Given the description of an element on the screen output the (x, y) to click on. 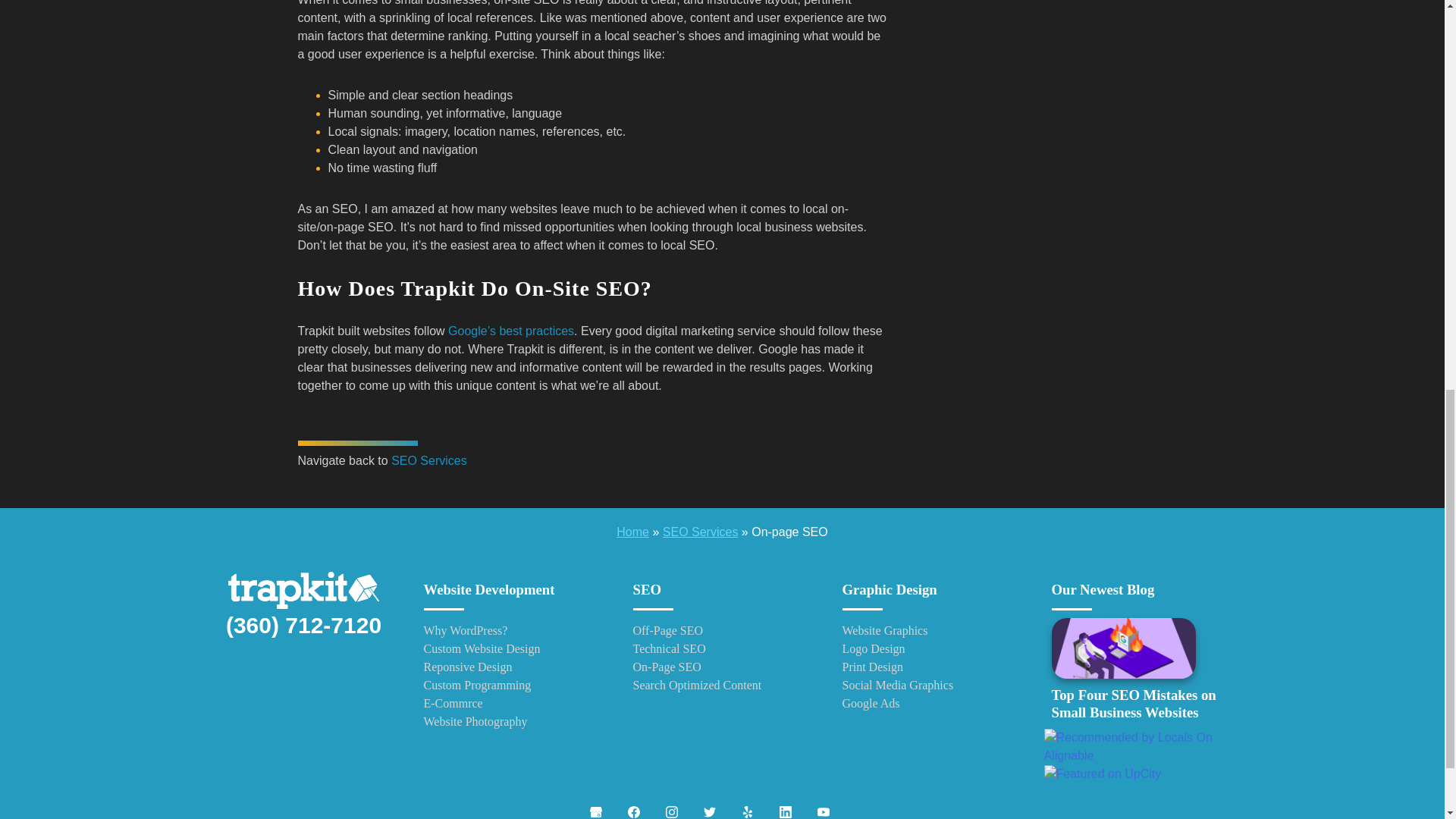
Custom Website Design (512, 648)
SEO Services (700, 531)
Print Design (930, 667)
Logo Design (930, 648)
Off-Page SEO (720, 630)
E-Commrce (512, 703)
Website Graphics (930, 630)
Custom Programming (512, 685)
Recommended by Locals On Alignable (1140, 746)
SEO Services (429, 460)
